Given the description of an element on the screen output the (x, y) to click on. 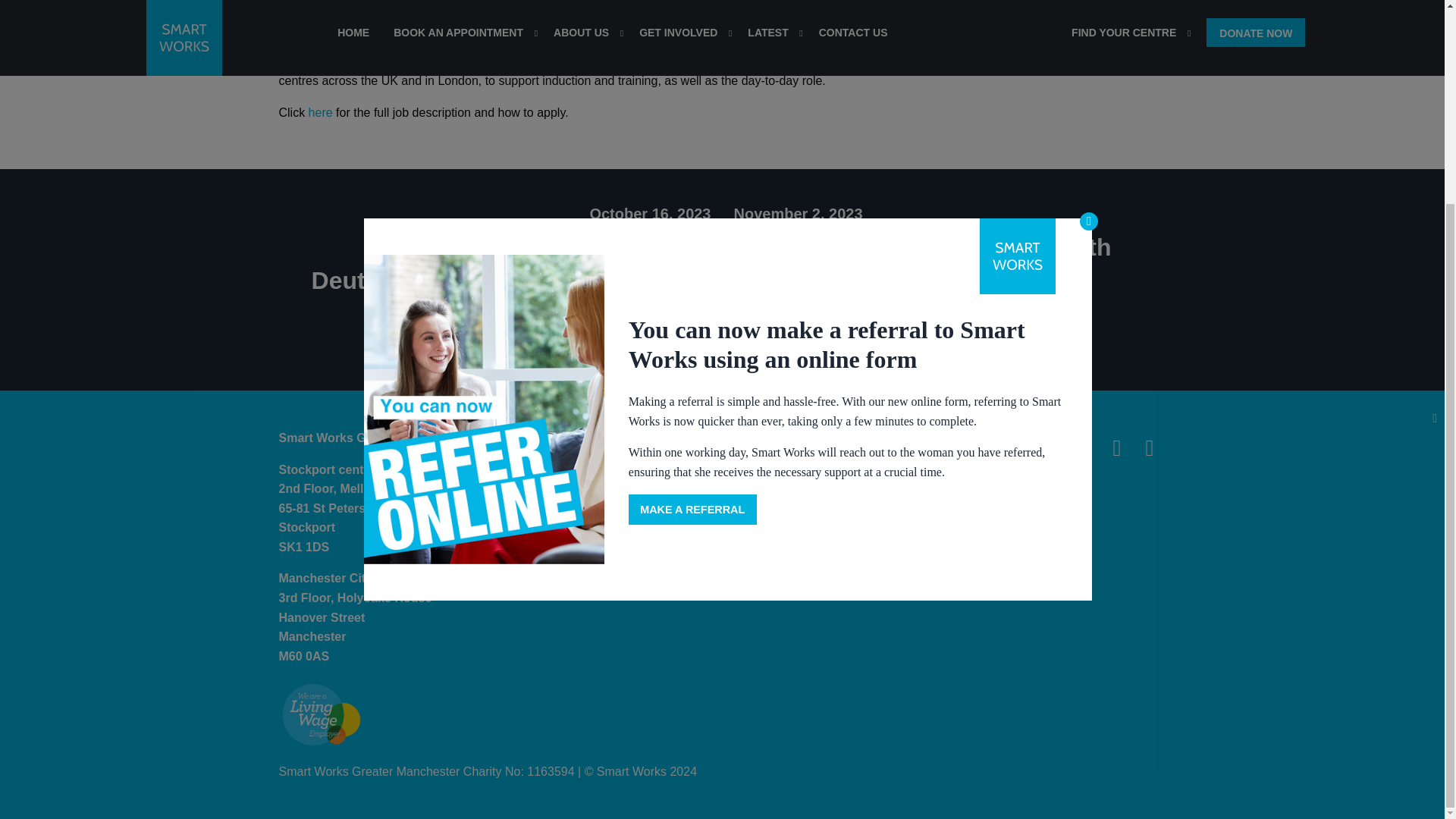
MAKE A REFERRAL (692, 247)
Privacy Policy (684, 471)
Donate (906, 442)
Careers (906, 471)
Contact Us (684, 442)
here (317, 112)
